Given the description of an element on the screen output the (x, y) to click on. 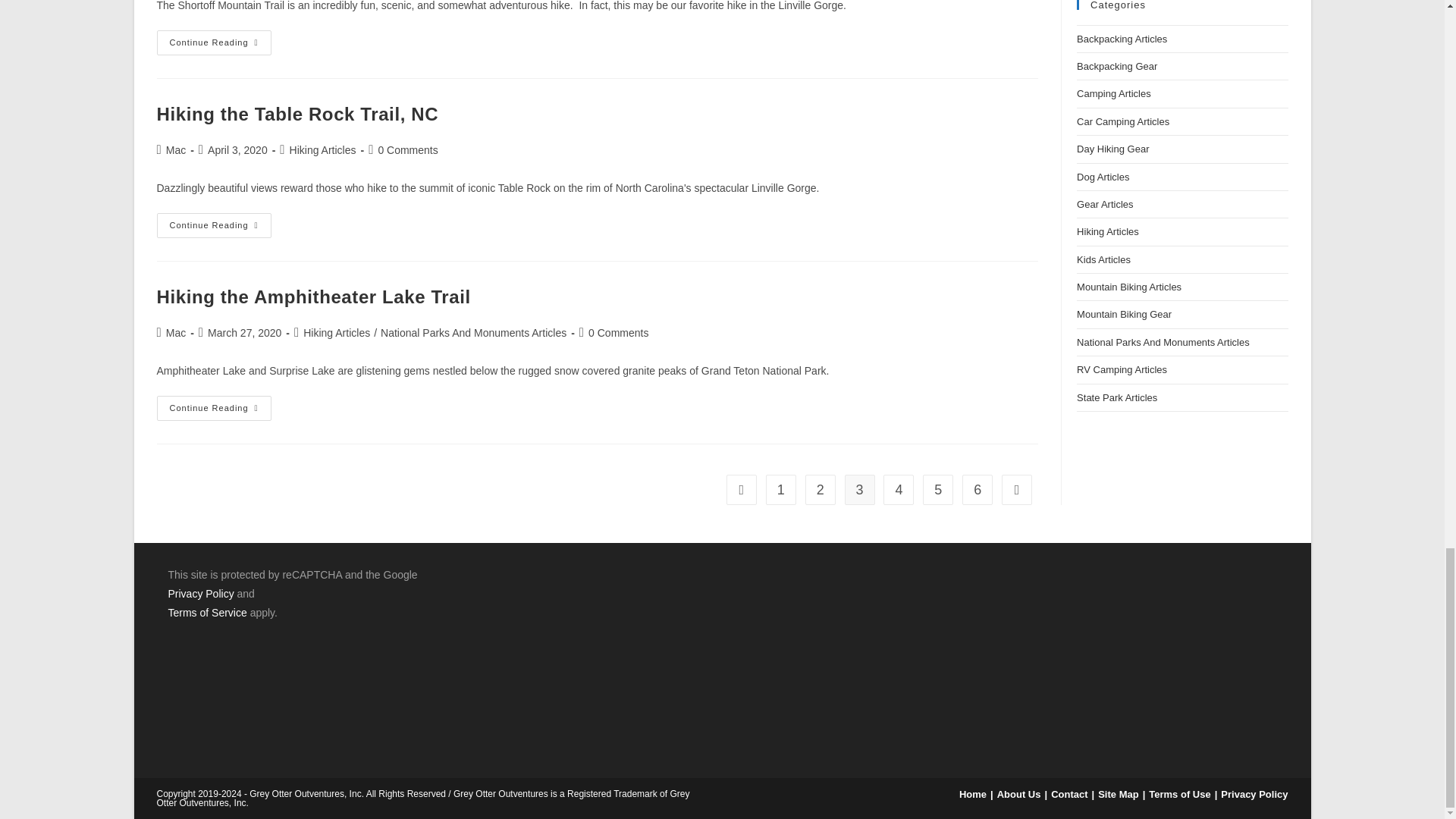
Posts by Mac (175, 150)
Posts by Mac (175, 332)
